Given the description of an element on the screen output the (x, y) to click on. 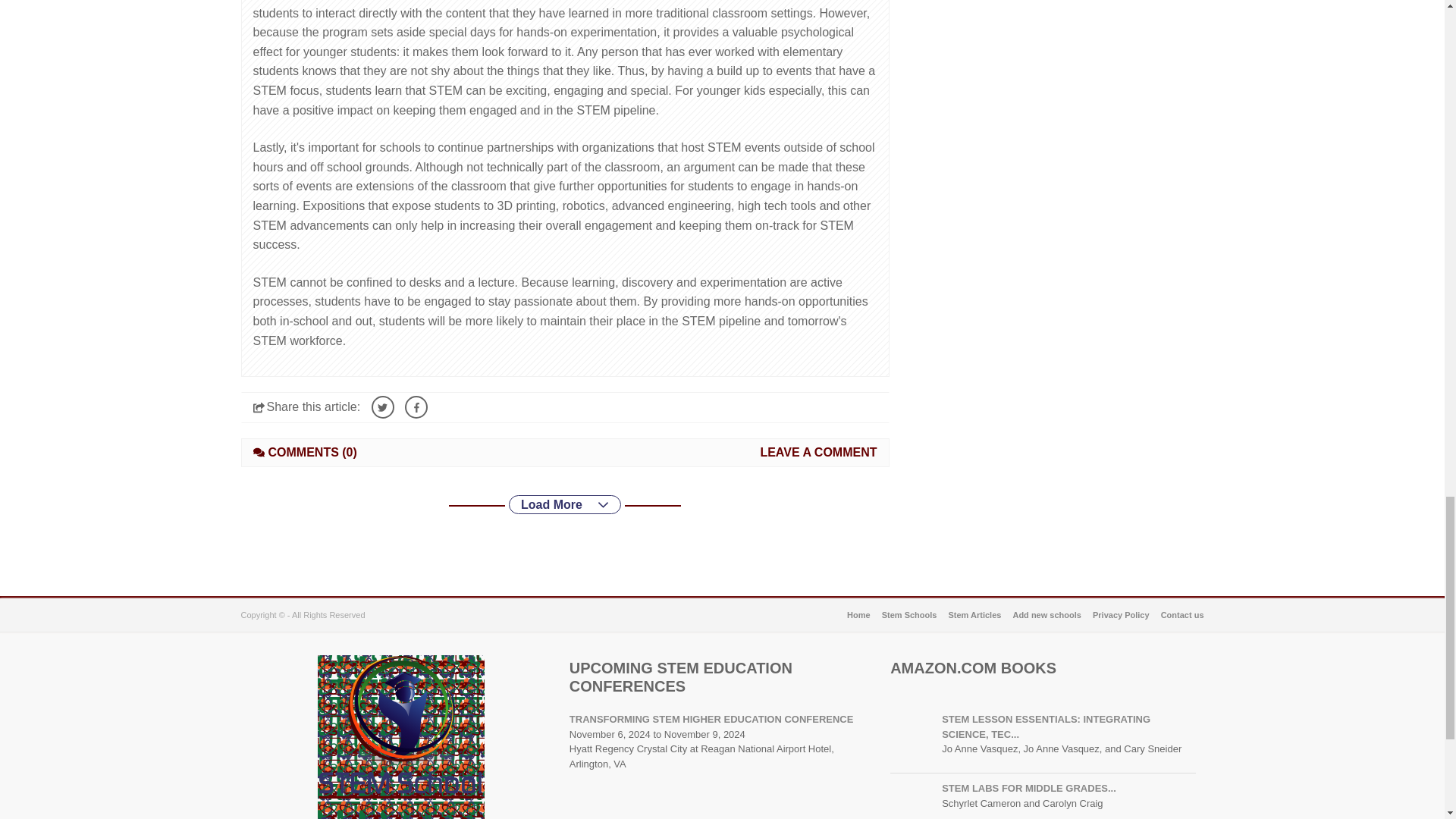
LEAVE A COMMENT (818, 451)
Load More (564, 504)
